Given the description of an element on the screen output the (x, y) to click on. 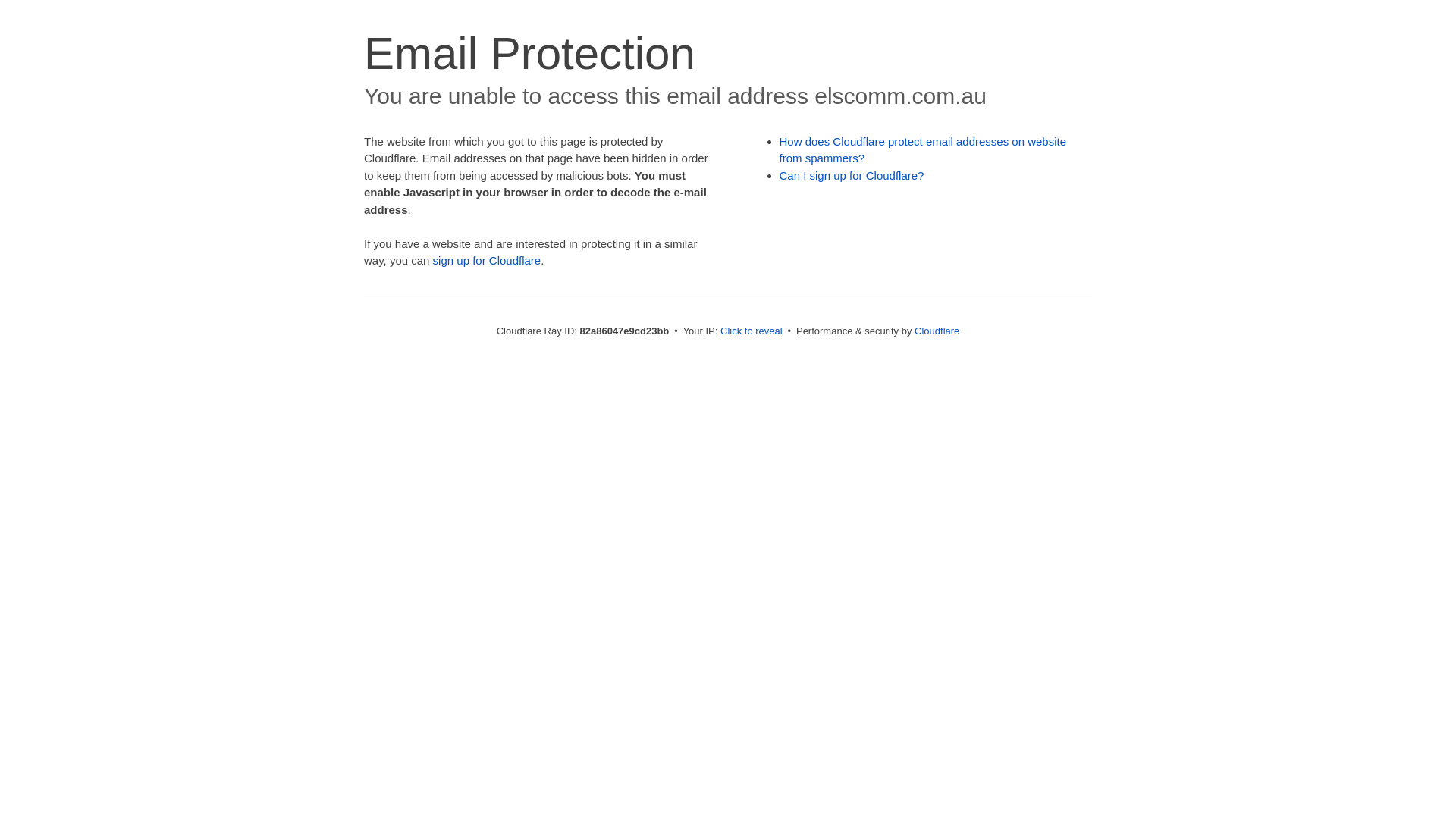
Click to reveal Element type: text (751, 330)
sign up for Cloudflare Element type: text (487, 260)
Can I sign up for Cloudflare? Element type: text (851, 175)
Cloudflare Element type: text (936, 330)
